Given the description of an element on the screen output the (x, y) to click on. 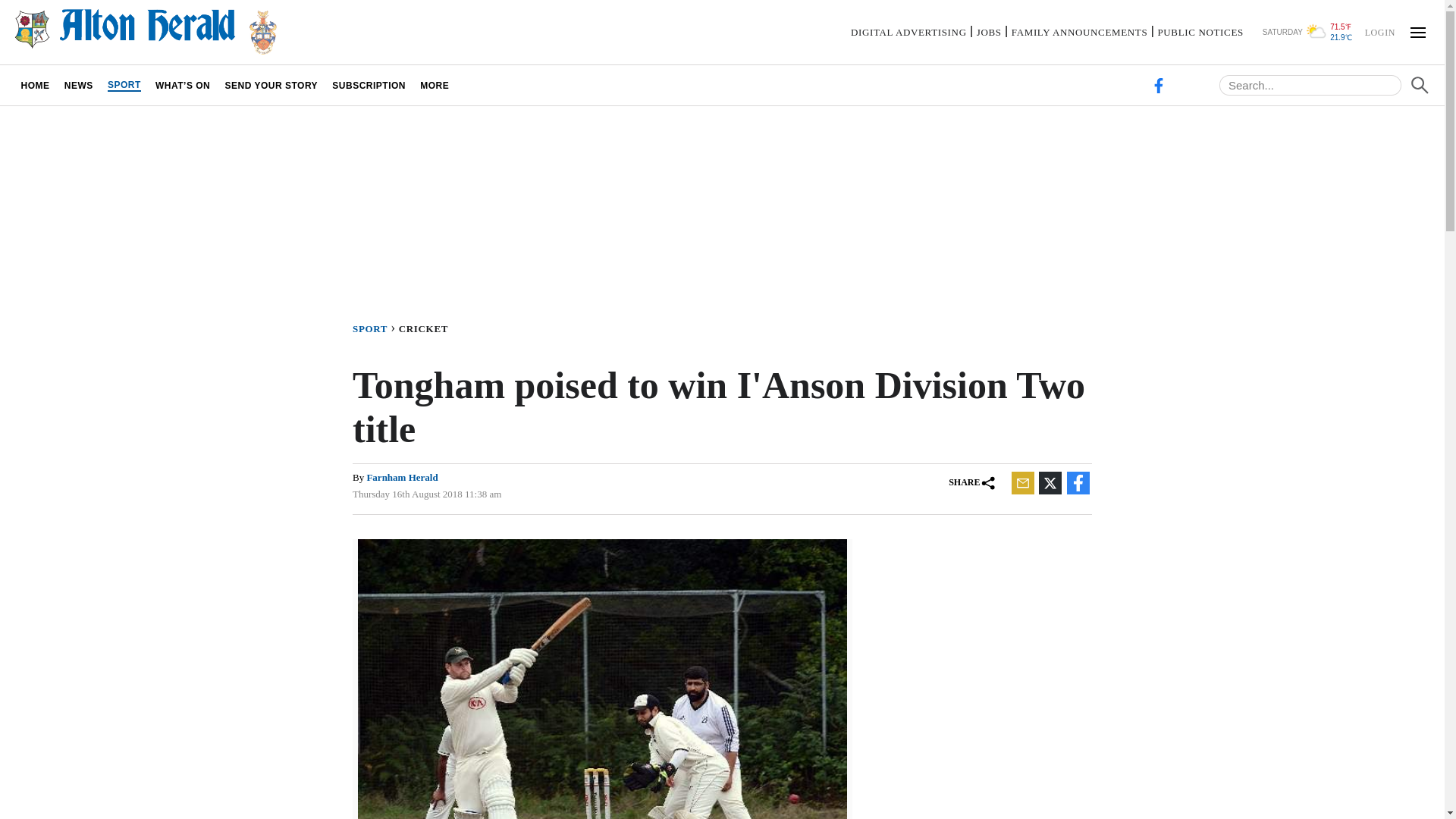
CRICKET (426, 328)
SPORT (124, 85)
MORE (435, 85)
LOGIN (1379, 31)
Farnham Herald (402, 477)
SEND YOUR STORY (270, 85)
PUBLIC NOTICES (1200, 32)
SPORT (375, 328)
SUBSCRIPTION (368, 85)
NEWS (78, 85)
HOME (34, 85)
